Given the description of an element on the screen output the (x, y) to click on. 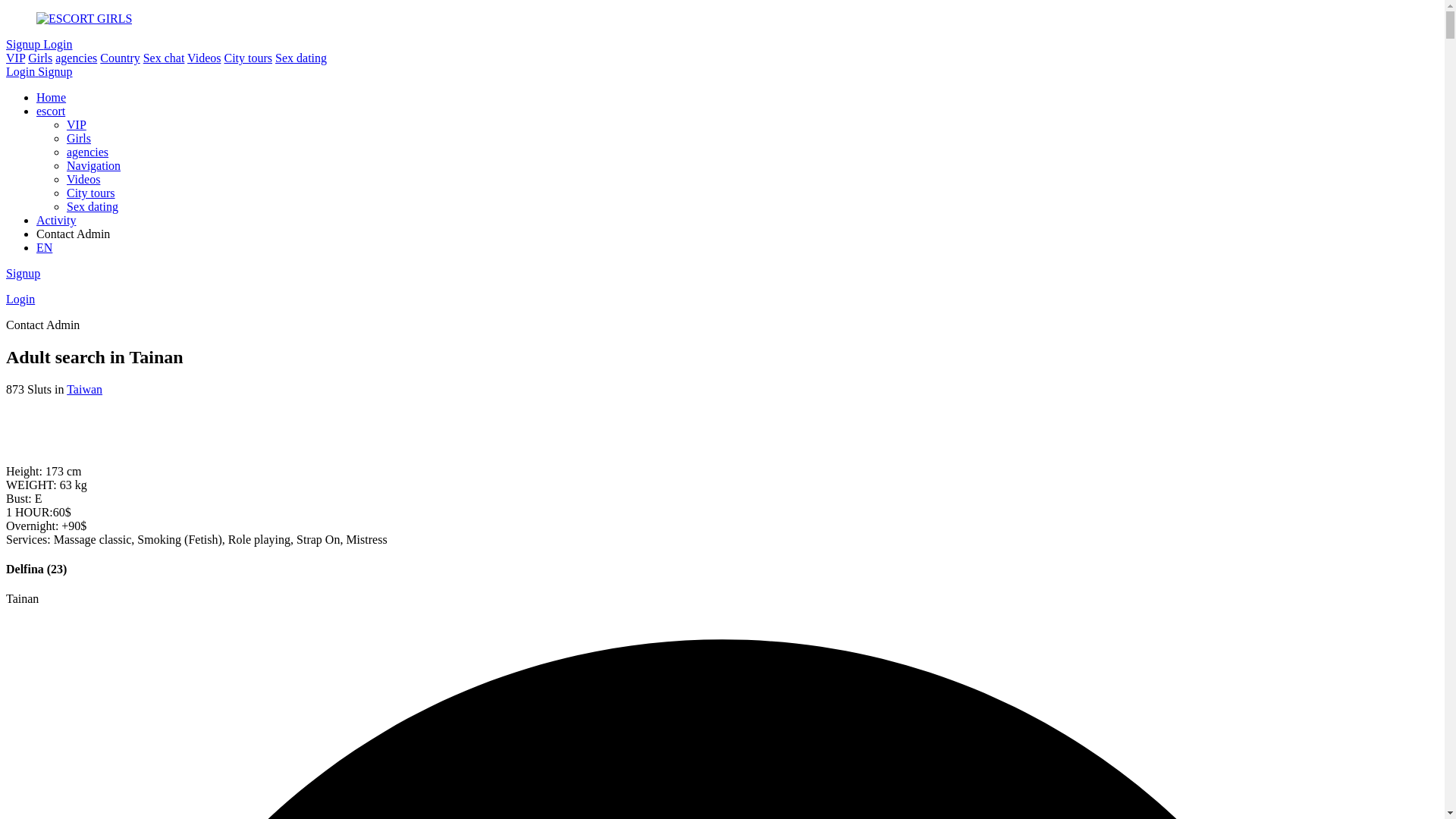
Signup Element type: text (23, 272)
EN Element type: text (44, 247)
Login Element type: text (21, 71)
City tours Element type: text (247, 57)
Girls Element type: text (40, 57)
Sex dating Element type: text (300, 57)
Signup Element type: text (54, 71)
Sex chat Element type: text (164, 57)
Videos Element type: text (83, 178)
Activity Element type: text (55, 219)
Home Element type: text (50, 97)
agencies Element type: text (76, 57)
escort Element type: text (50, 110)
City tours Element type: text (90, 192)
VIP Element type: text (76, 124)
Contact Admin Element type: text (72, 233)
Contact Admin Element type: text (42, 324)
Sex dating Element type: text (92, 206)
Videos Element type: text (203, 57)
Contact Admin Element type: text (737, 234)
Taiwan Element type: text (84, 388)
Login Element type: text (57, 43)
Signup Element type: text (24, 43)
Country Element type: text (119, 57)
VIP Element type: text (15, 57)
agencies Element type: text (87, 151)
Navigation Element type: text (93, 165)
Girls Element type: text (78, 137)
Login Element type: text (20, 298)
